Given the description of an element on the screen output the (x, y) to click on. 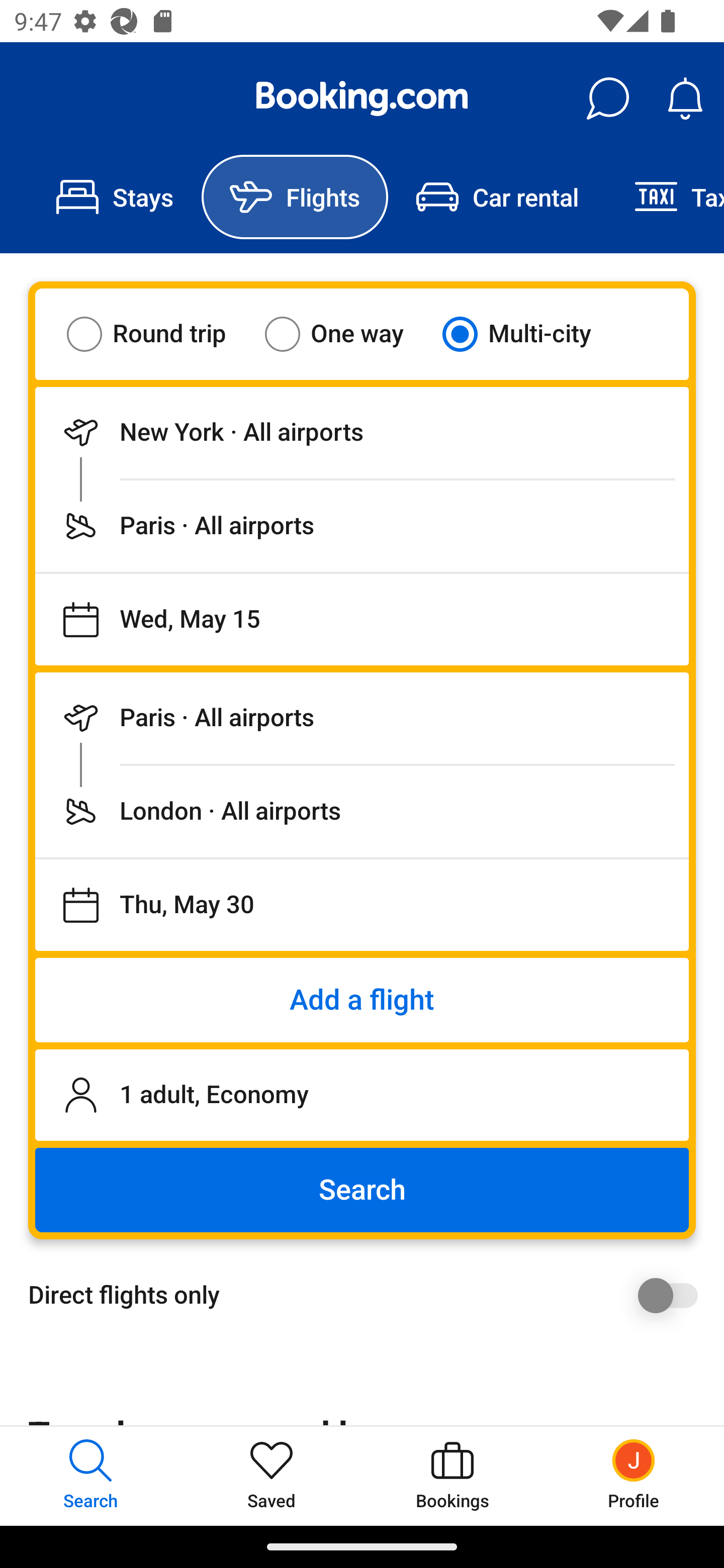
Messages (607, 98)
Notifications (685, 98)
Stays (114, 197)
Flights (294, 197)
Car rental (497, 197)
Taxi (665, 197)
Round trip (158, 333)
One way (346, 333)
Flight 1, departing from New York · All airports (361, 432)
Flight 1, flying to Paris · All airports (361, 525)
Flight 1 departing on Wed, May 15 (361, 618)
Flight 2, departing from Paris · All airports (361, 717)
Flight 2, flying to London · All airports (361, 811)
Flight 2 departing on Wed, May 15 (361, 904)
Add a flight (361, 1000)
1 adult, Economy (361, 1094)
Search (361, 1189)
Direct flights only (369, 1294)
Saved (271, 1475)
Bookings (452, 1475)
Profile (633, 1475)
